Given the description of an element on the screen output the (x, y) to click on. 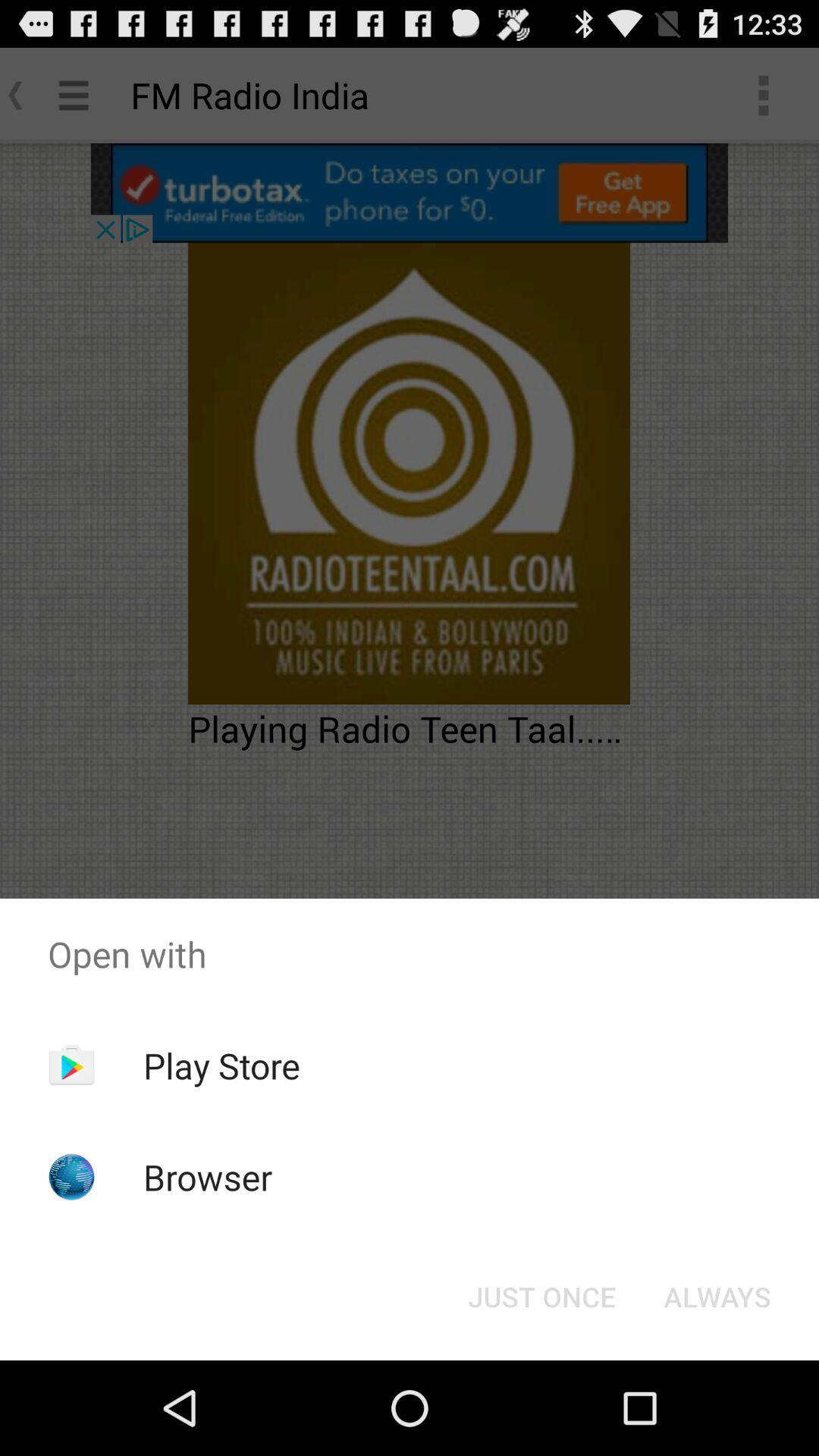
swipe until the browser item (207, 1176)
